Given the description of an element on the screen output the (x, y) to click on. 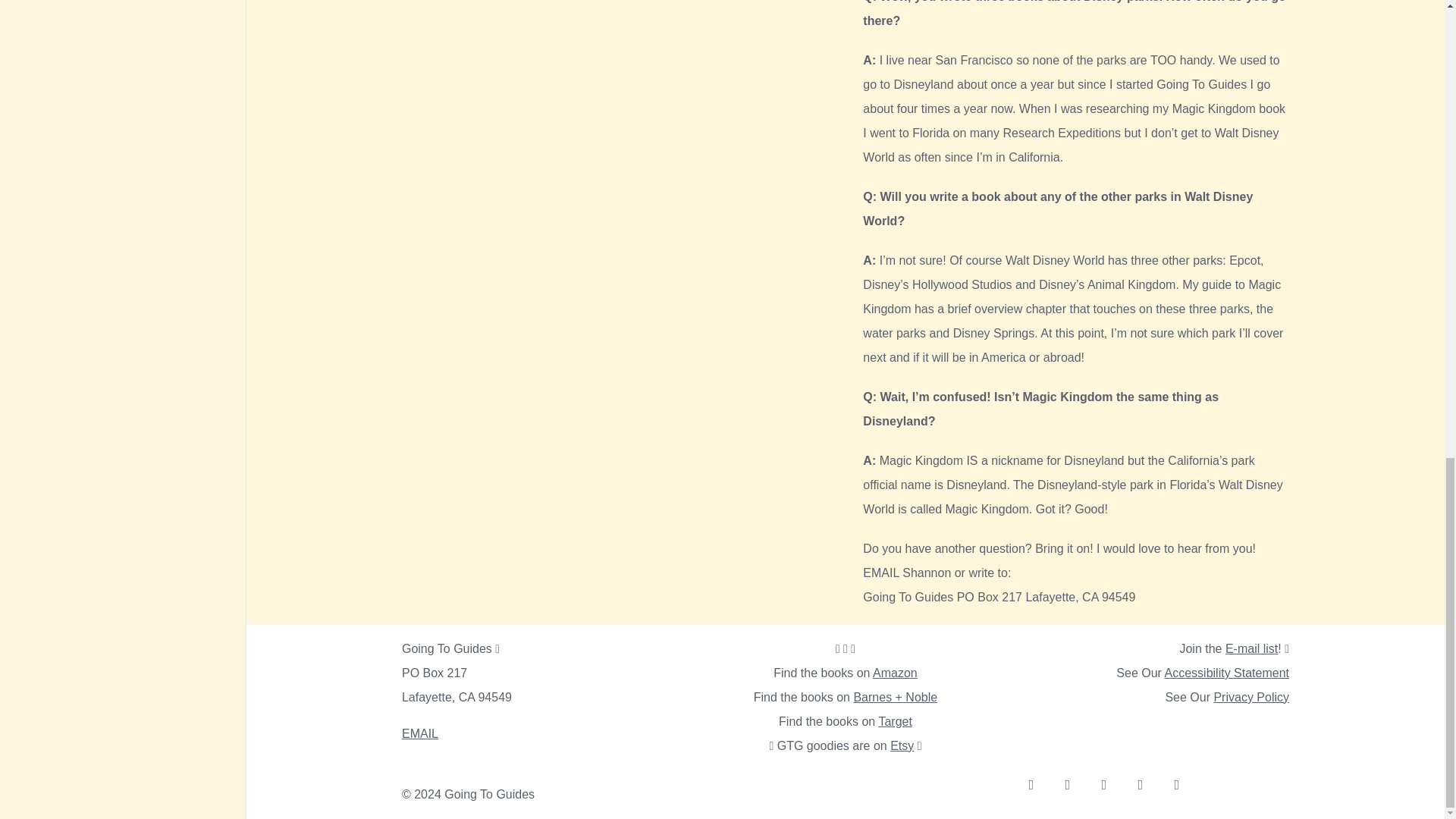
Privacy Policy (1250, 697)
Accessibility Statement (1227, 672)
E-mail list (1251, 648)
Target (894, 721)
EMAIL (880, 572)
EMAIL (419, 733)
Amazon (894, 672)
Etsy (903, 745)
